Given the description of an element on the screen output the (x, y) to click on. 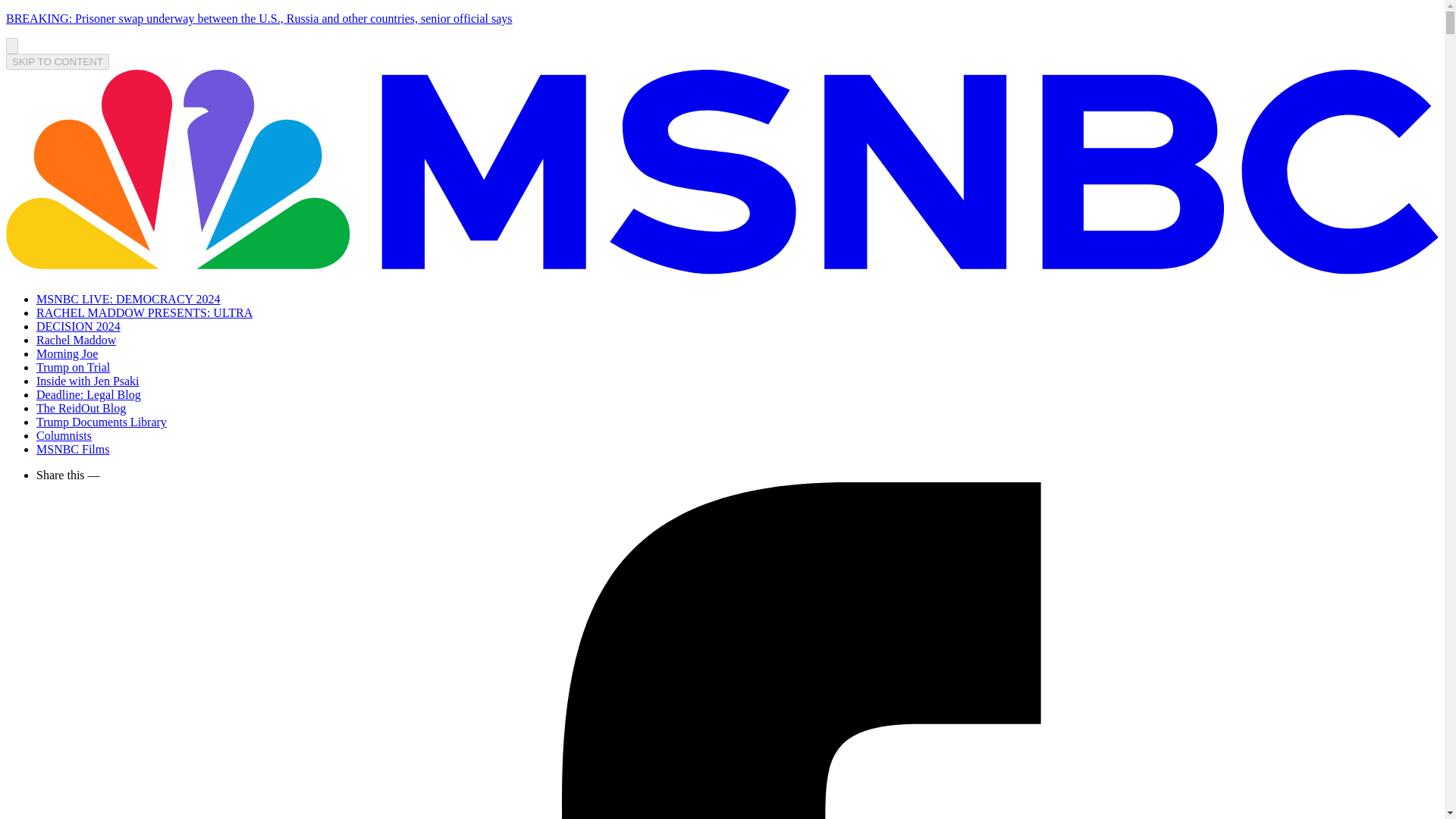
SKIP TO CONTENT (57, 61)
Trump Documents Library (101, 421)
Inside with Jen Psaki (87, 380)
Trump on Trial (73, 367)
MSNBC LIVE: DEMOCRACY 2024 (128, 298)
MSNBC Films (72, 449)
Morning Joe (66, 353)
DECISION 2024 (78, 326)
Deadline: Legal Blog (88, 394)
The ReidOut Blog (80, 408)
Columnists (63, 435)
RACHEL MADDOW PRESENTS: ULTRA (143, 312)
Rachel Maddow (76, 339)
